Given the description of an element on the screen output the (x, y) to click on. 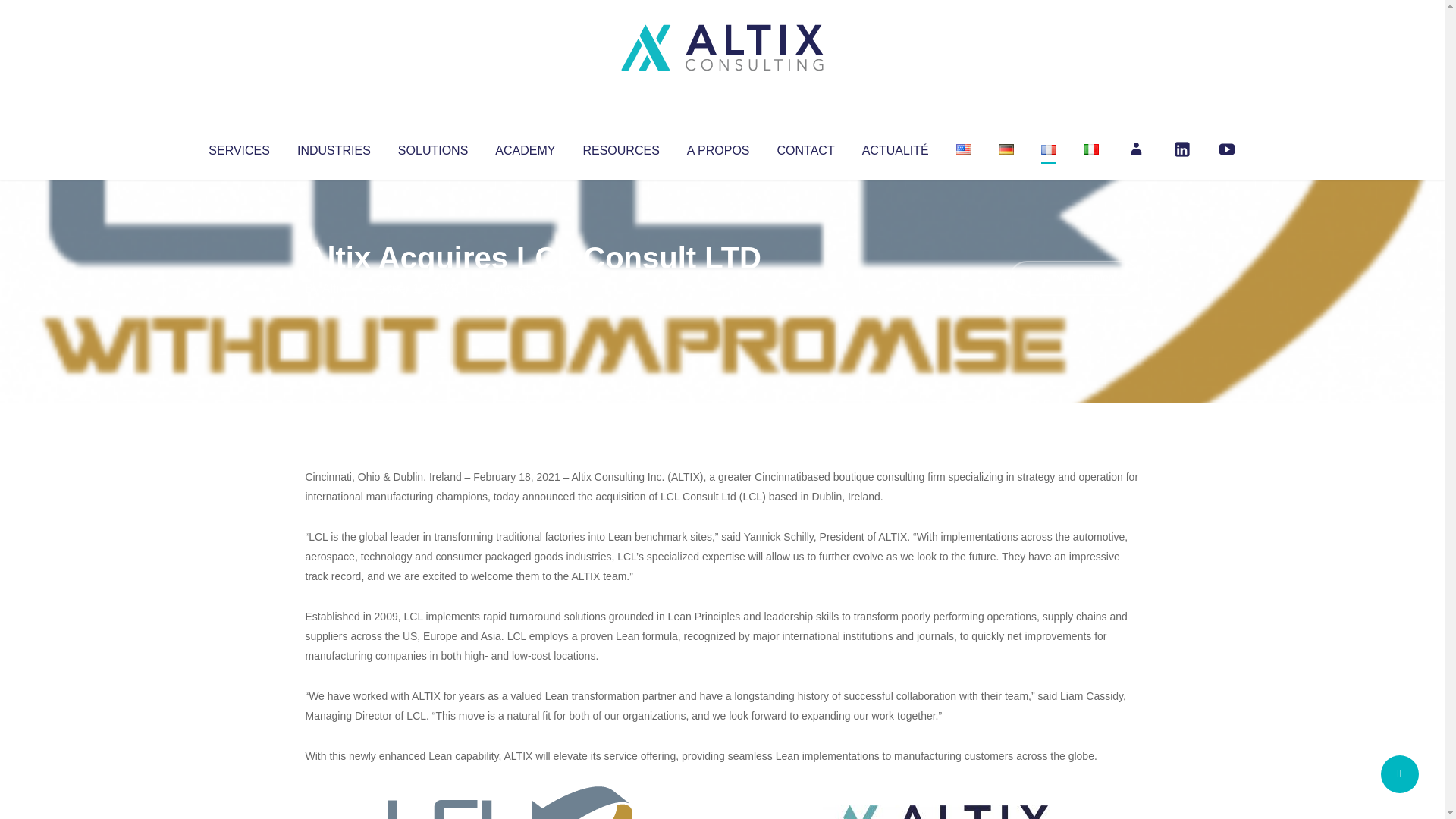
A PROPOS (718, 146)
ACADEMY (524, 146)
No Comments (1073, 278)
RESOURCES (620, 146)
SERVICES (238, 146)
Altix (333, 287)
Articles par Altix (333, 287)
Uncategorized (530, 287)
INDUSTRIES (334, 146)
SOLUTIONS (432, 146)
